Given the description of an element on the screen output the (x, y) to click on. 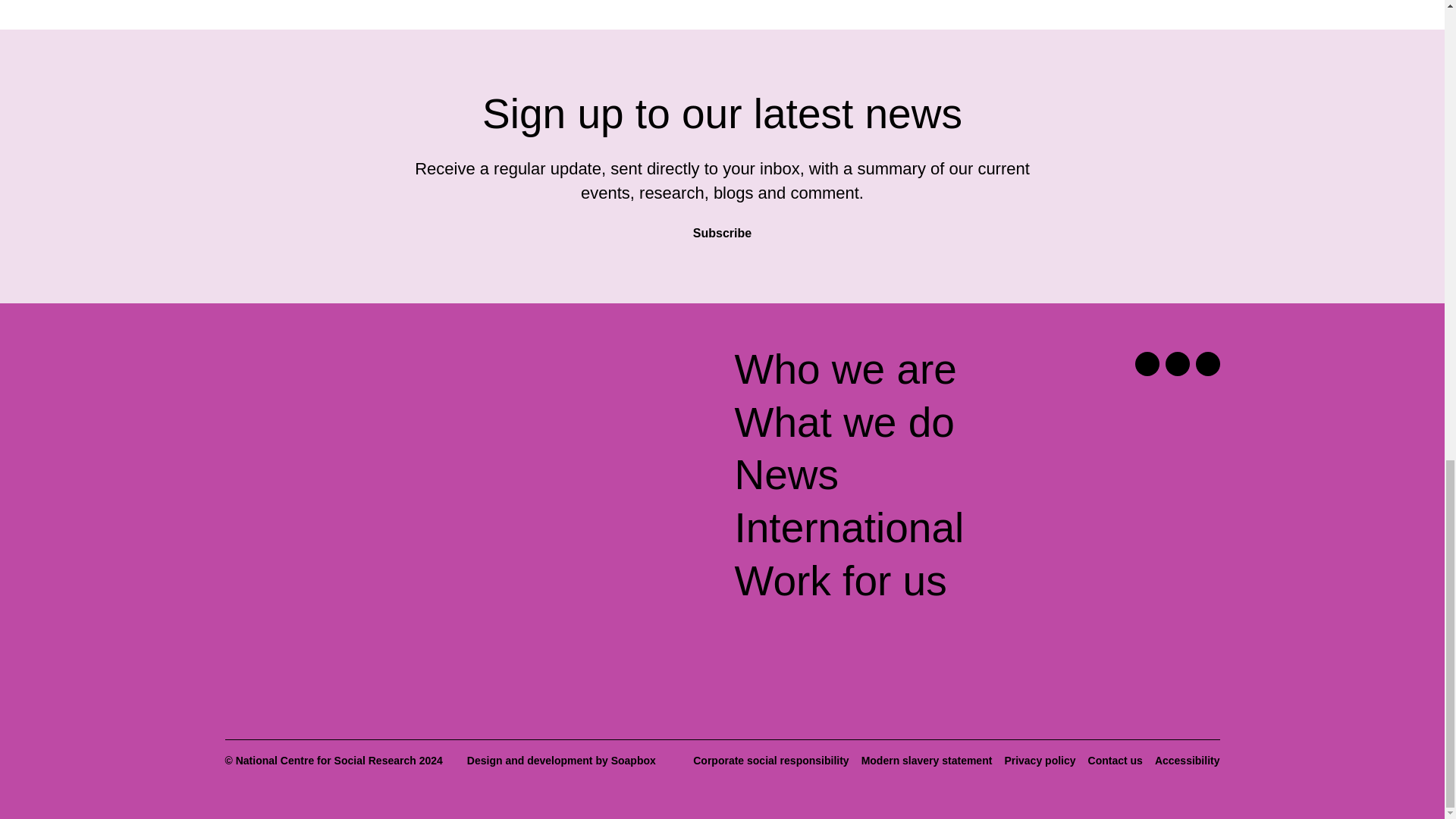
Youtube (1207, 363)
Who we are (844, 369)
Linkedin (1176, 363)
Twitter (1146, 363)
What we do (843, 422)
Return to the homepage (344, 376)
Subscribe (722, 226)
